Given the description of an element on the screen output the (x, y) to click on. 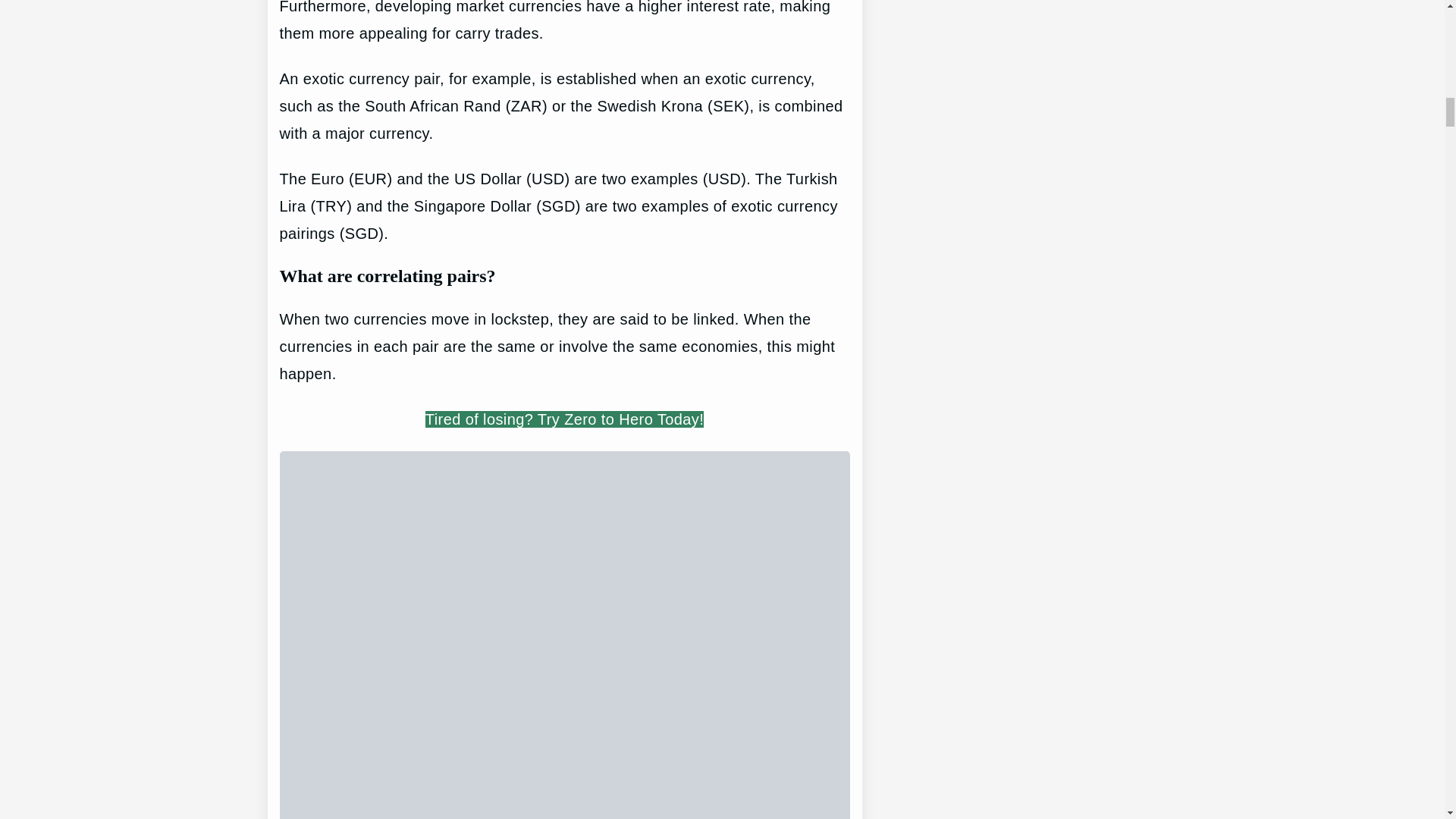
Tired of losing? Try Zero to Hero Today! (564, 419)
